Given the description of an element on the screen output the (x, y) to click on. 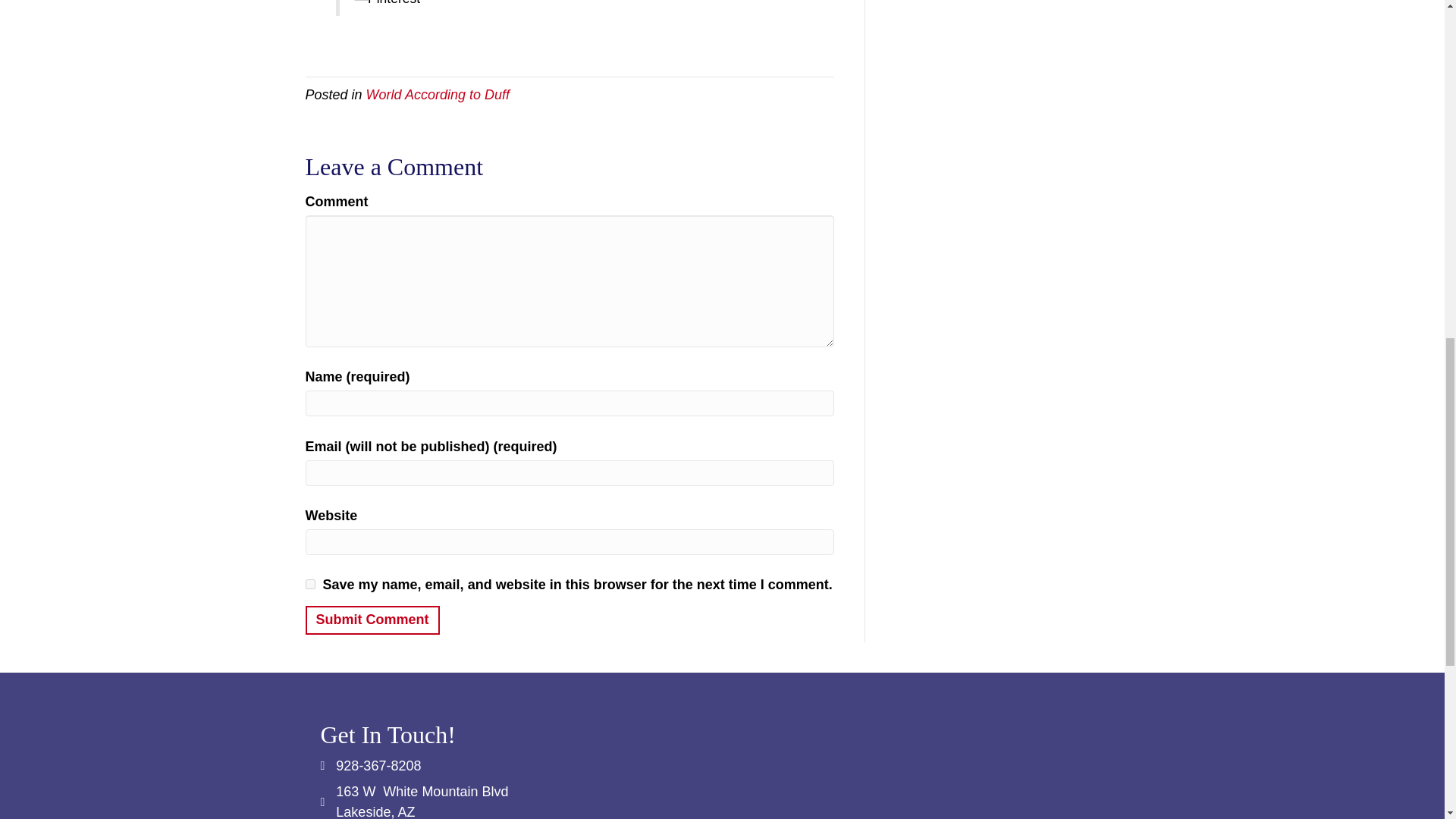
World According to Duff (437, 94)
yes (309, 583)
Submit Comment (371, 620)
Submit Comment (371, 620)
